Given the description of an element on the screen output the (x, y) to click on. 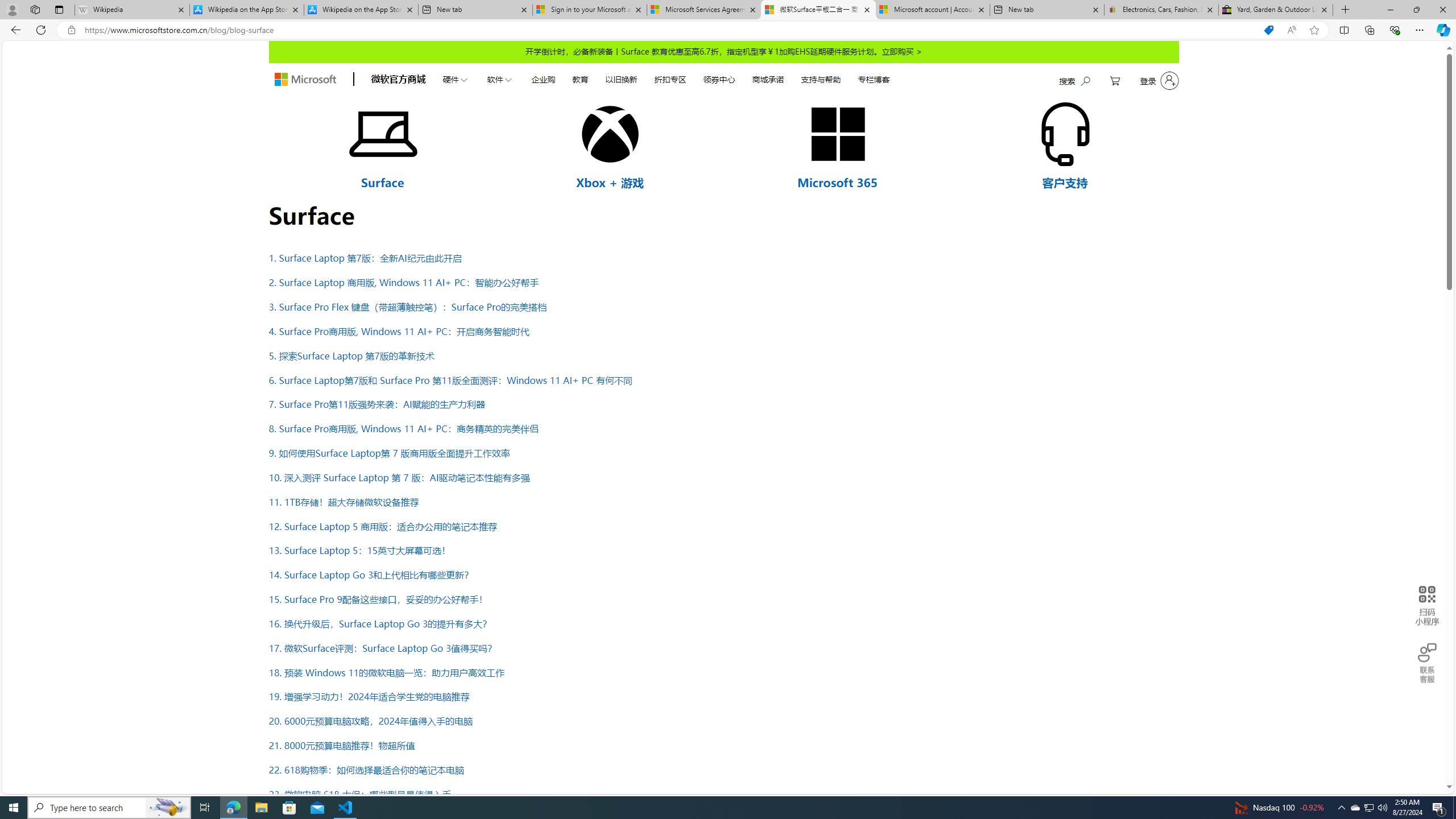
Microsoft 365 (837, 182)
Browser essentials (1394, 29)
Read aloud this page (Ctrl+Shift+U) (1291, 29)
